Given the description of an element on the screen output the (x, y) to click on. 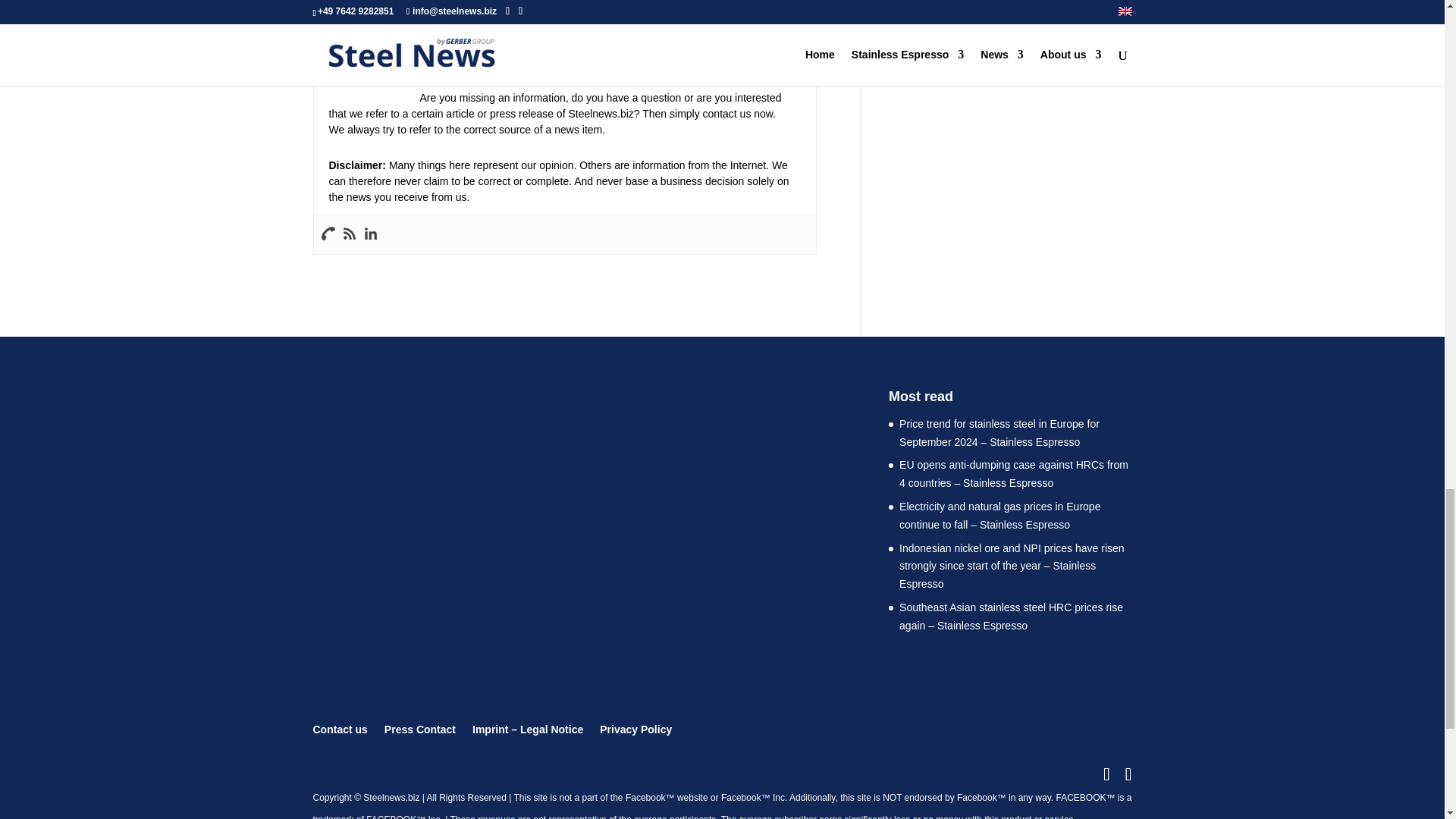
to steelnews.biz (454, 65)
Steelnews.biz (454, 65)
External Source (468, 44)
